Given the description of an element on the screen output the (x, y) to click on. 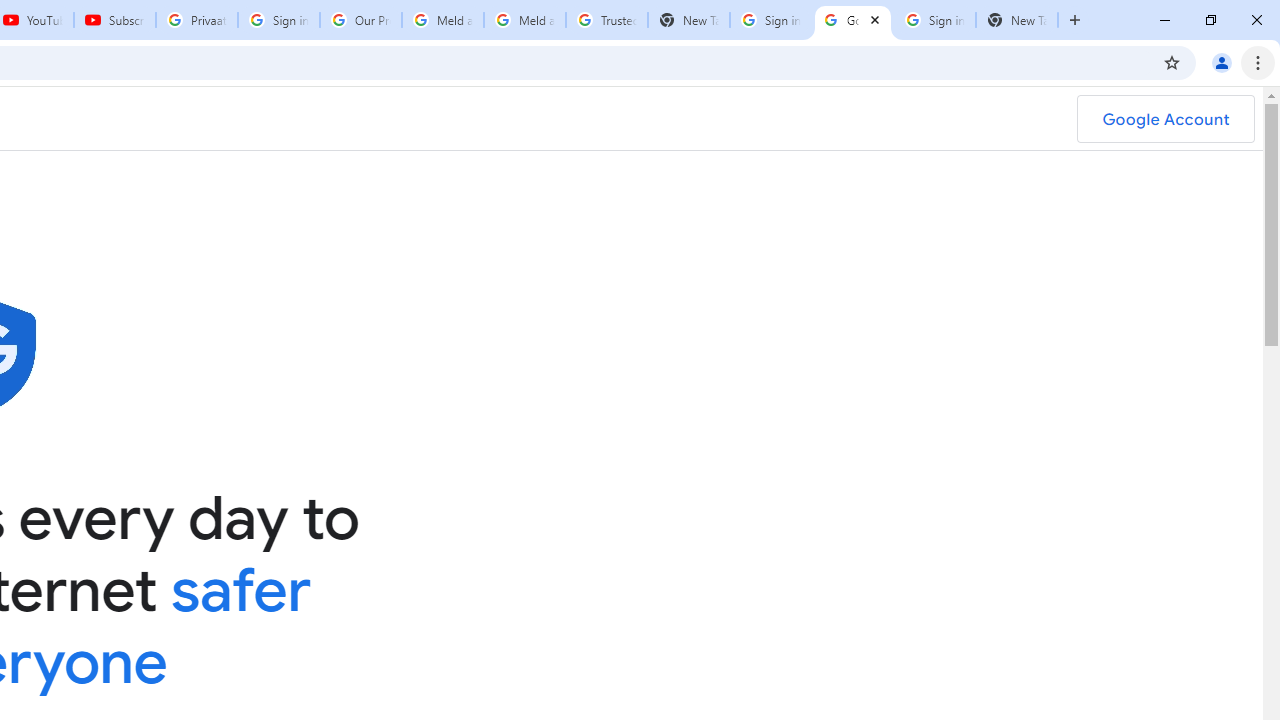
Google Account (1165, 119)
Sign in - Google Accounts (934, 20)
Subscriptions - YouTube (115, 20)
Trusted Information and Content - Google Safety Center (606, 20)
Sign in - Google Accounts (278, 20)
New Tab (1016, 20)
Google Cybersecurity Innovations - Google Safety Center (852, 20)
